Given the description of an element on the screen output the (x, y) to click on. 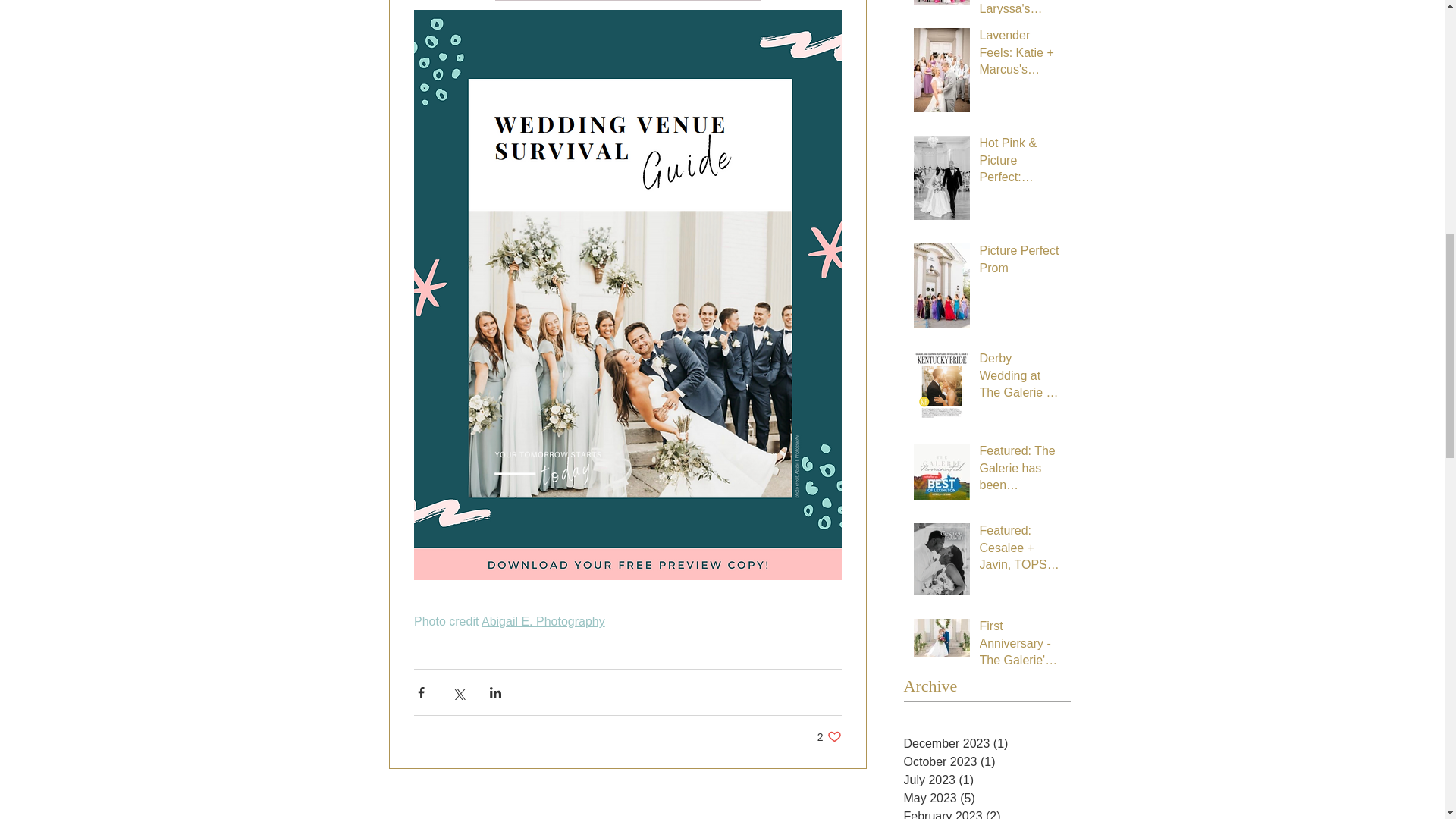
Derby Wedding at The Galerie - In the Heart of Horse Country (1020, 378)
Picture Perfect Prom (1020, 262)
Abigail E. Photography (542, 621)
First Anniversary - The Galerie's Paper Gift Guide (1020, 646)
